Given the description of an element on the screen output the (x, y) to click on. 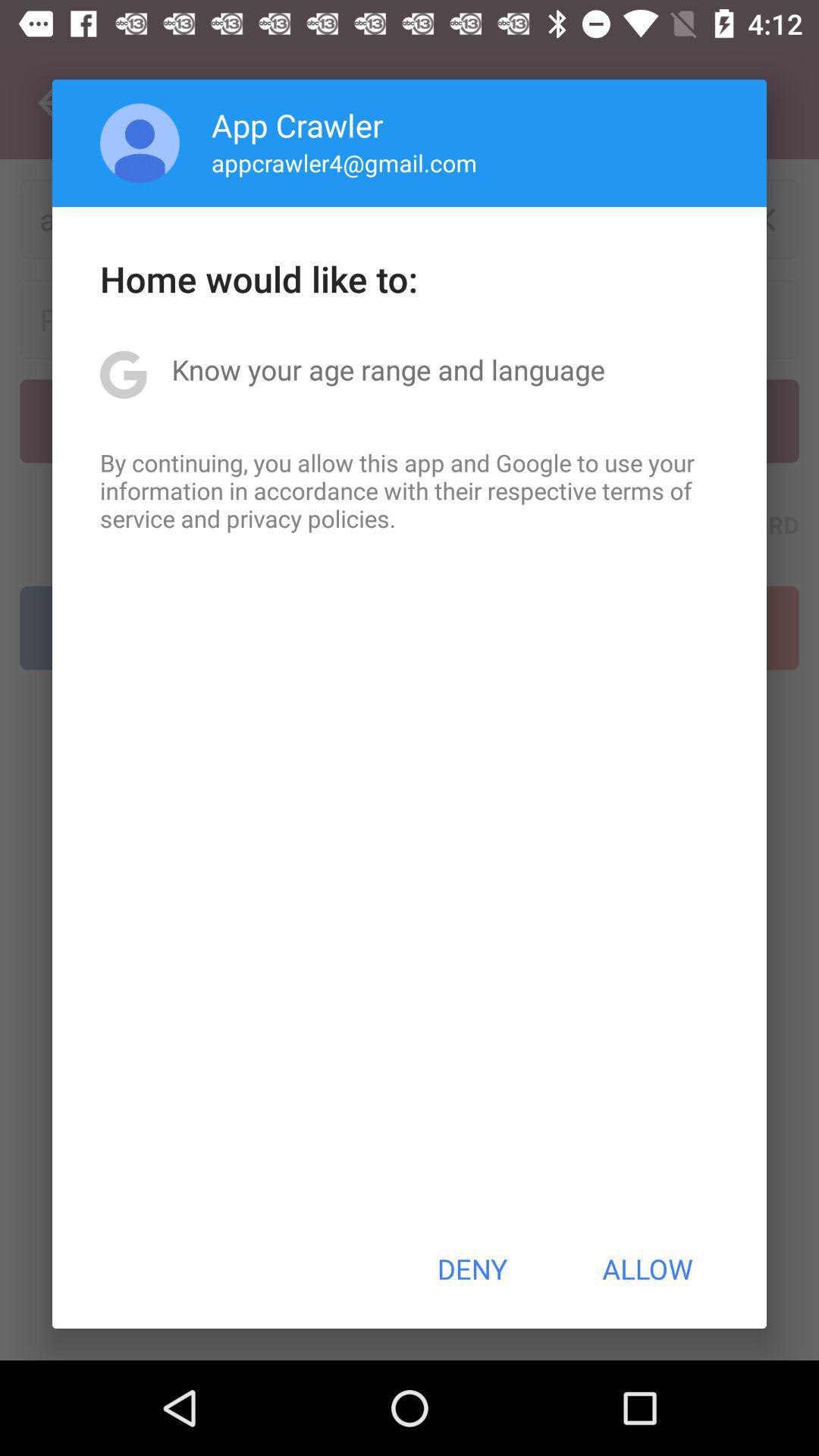
open app next to app crawler icon (139, 143)
